Given the description of an element on the screen output the (x, y) to click on. 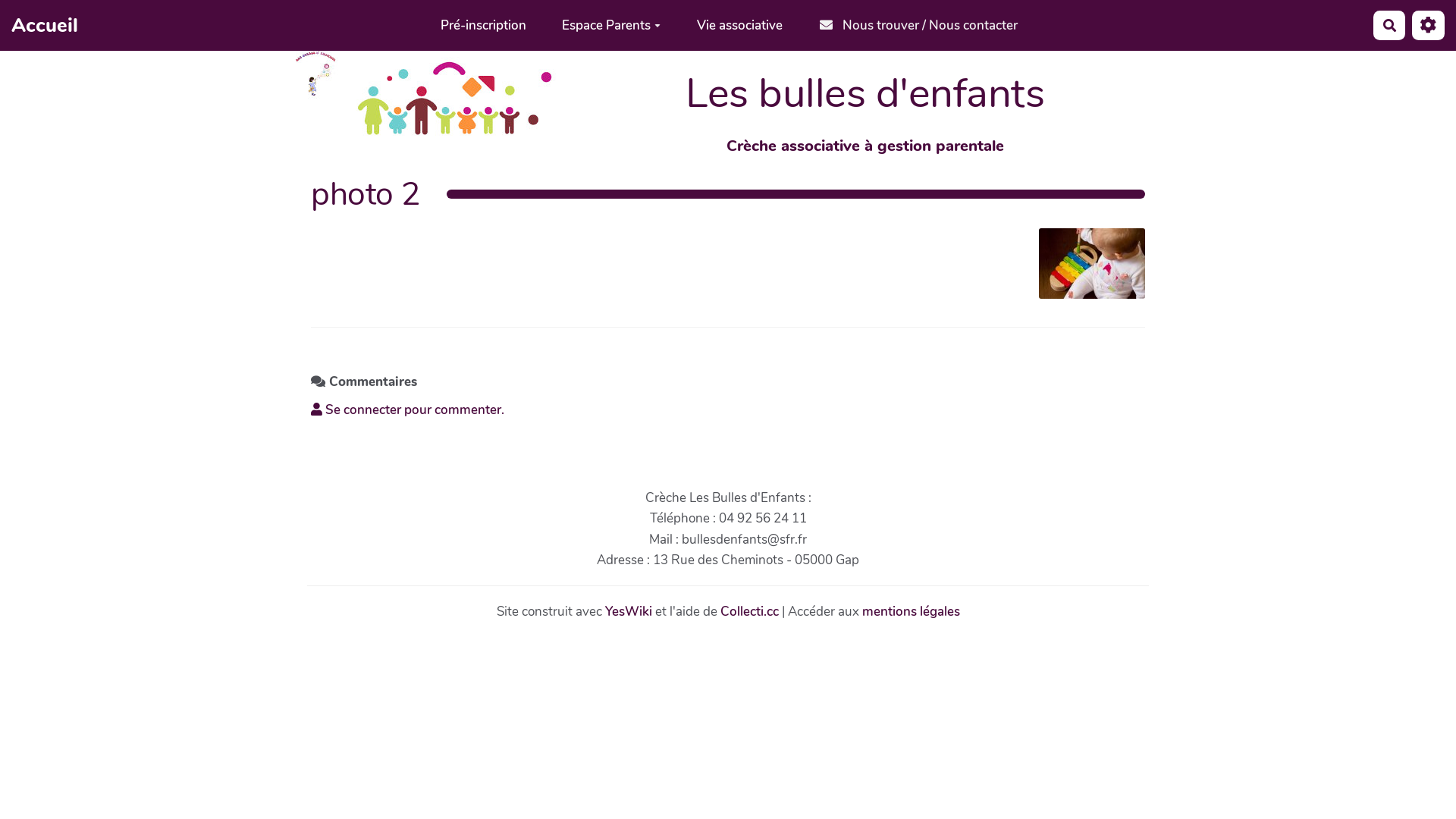
Espace Parents Element type: text (610, 25)
Accueil Element type: text (44, 24)
Collecti.cc Element type: text (749, 611)
Nous trouver / Nous contacter Element type: text (918, 25)
Se connecter pour commenter. Element type: text (407, 409)
Vie associative Element type: text (739, 25)
Rechercher Element type: text (1389, 25)
YesWiki Element type: text (628, 611)
Photo2_jelleke-vanooteghem-bnugjd3go94-unsplash.jpg Element type: hover (1084, 270)
